Given the description of an element on the screen output the (x, y) to click on. 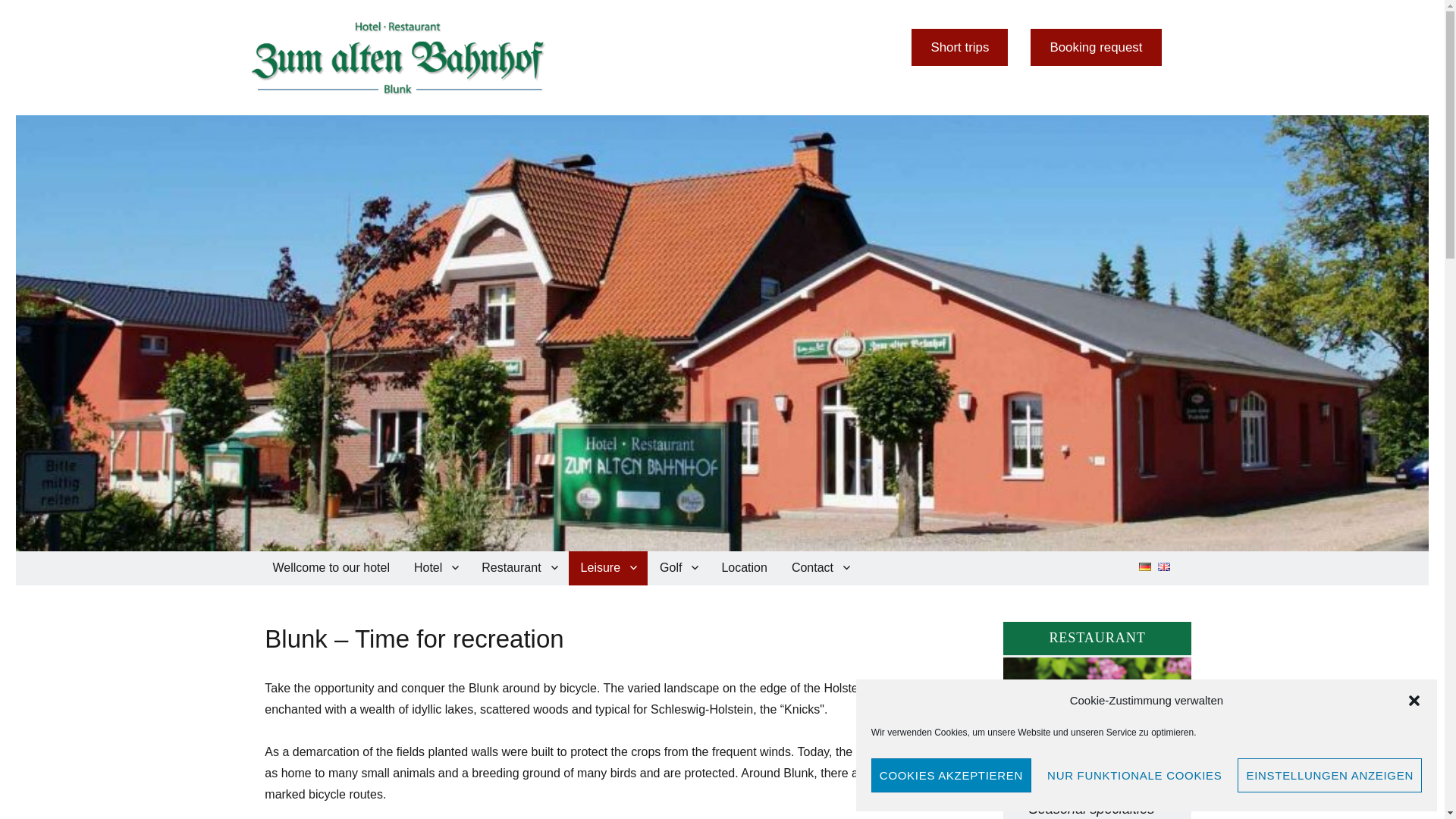
Short trips (959, 47)
Golf (678, 568)
Restaurant (517, 568)
EINSTELLUNGEN ANZEIGEN (1329, 775)
Wellcome to our hotel (330, 568)
Leisure (608, 568)
Booking request (1095, 47)
COOKIES AKZEPTIEREN (950, 775)
NUR FUNKTIONALE COOKIES (1134, 775)
Hotel (434, 568)
